Given the description of an element on the screen output the (x, y) to click on. 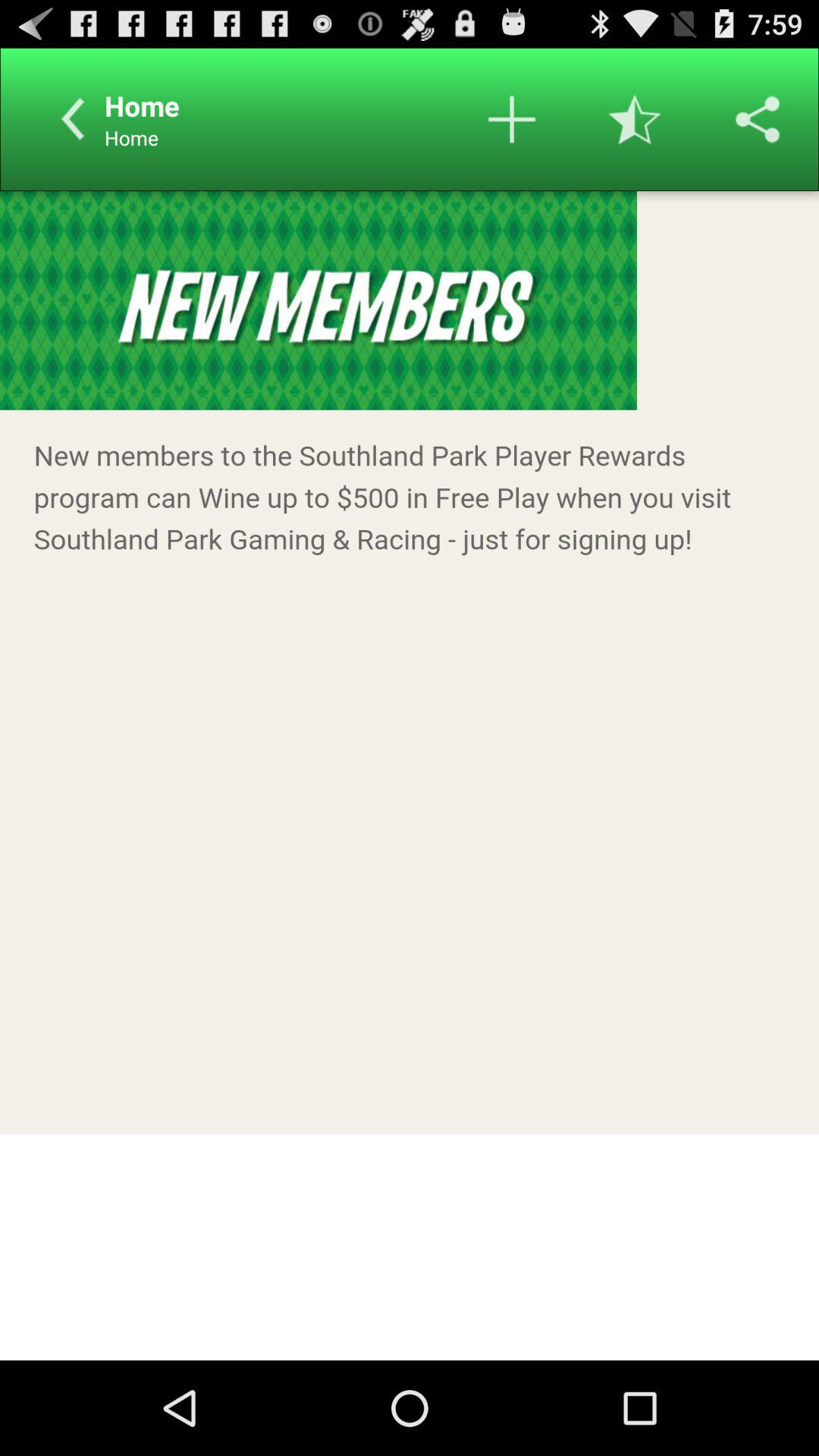
sign up to become member (409, 775)
